Given the description of an element on the screen output the (x, y) to click on. 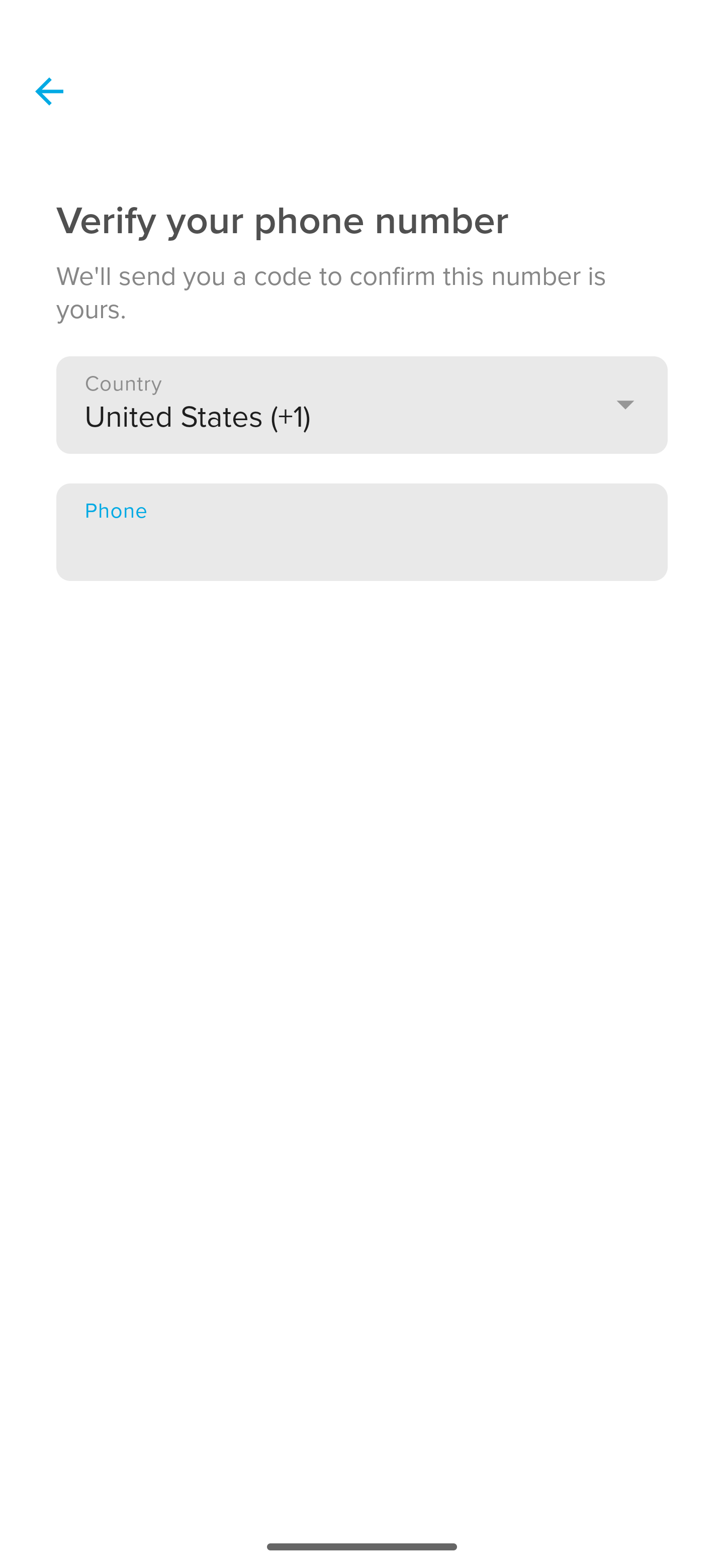
United States (+1) (361, 404)
Phone (361, 531)
